Given the description of an element on the screen output the (x, y) to click on. 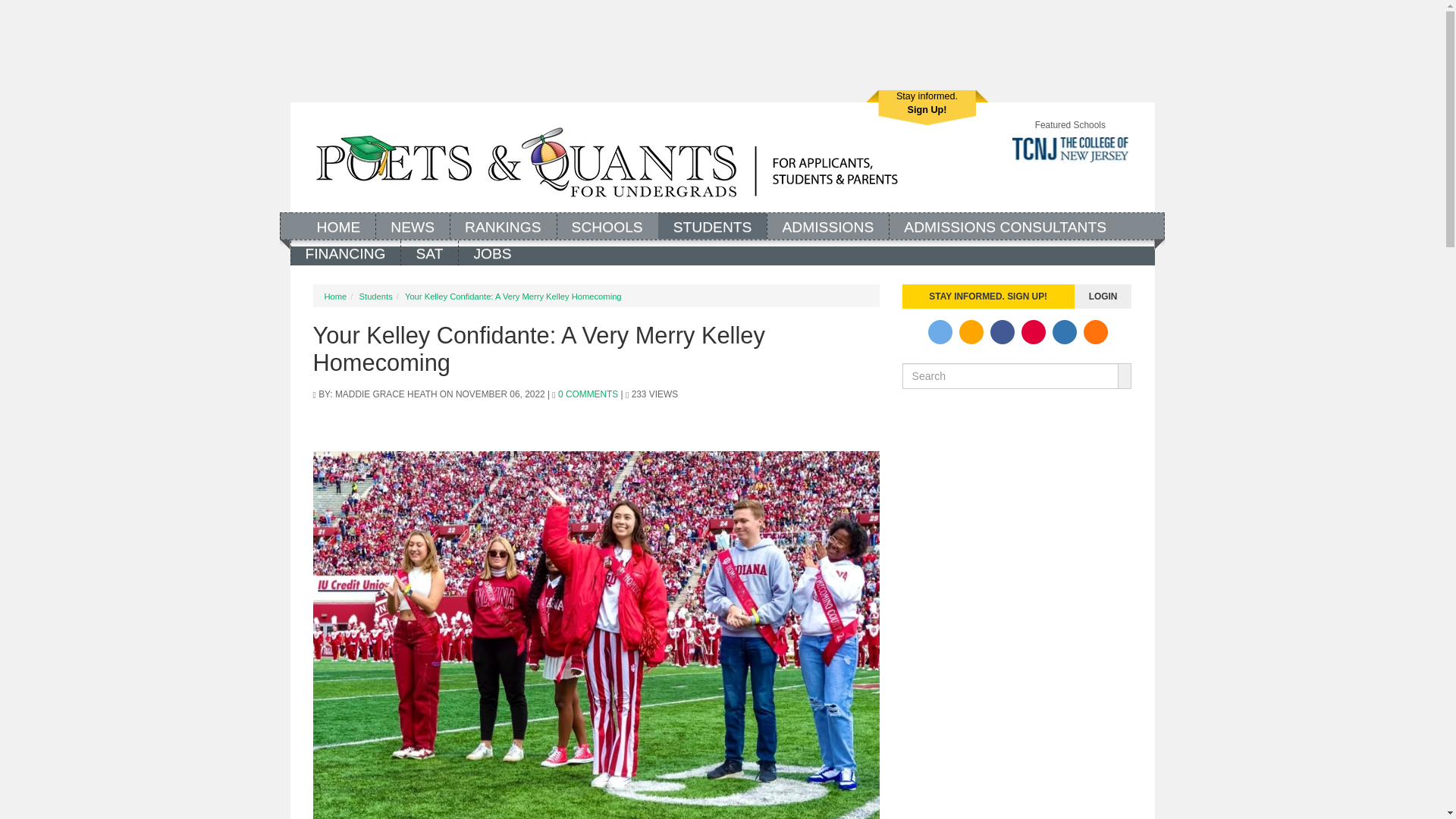
Students (712, 225)
HOME (338, 225)
RANKINGS (502, 225)
Admissions (827, 225)
News (412, 225)
SAT (429, 252)
Home (606, 162)
NEWS (412, 225)
Register (926, 107)
